Given the description of an element on the screen output the (x, y) to click on. 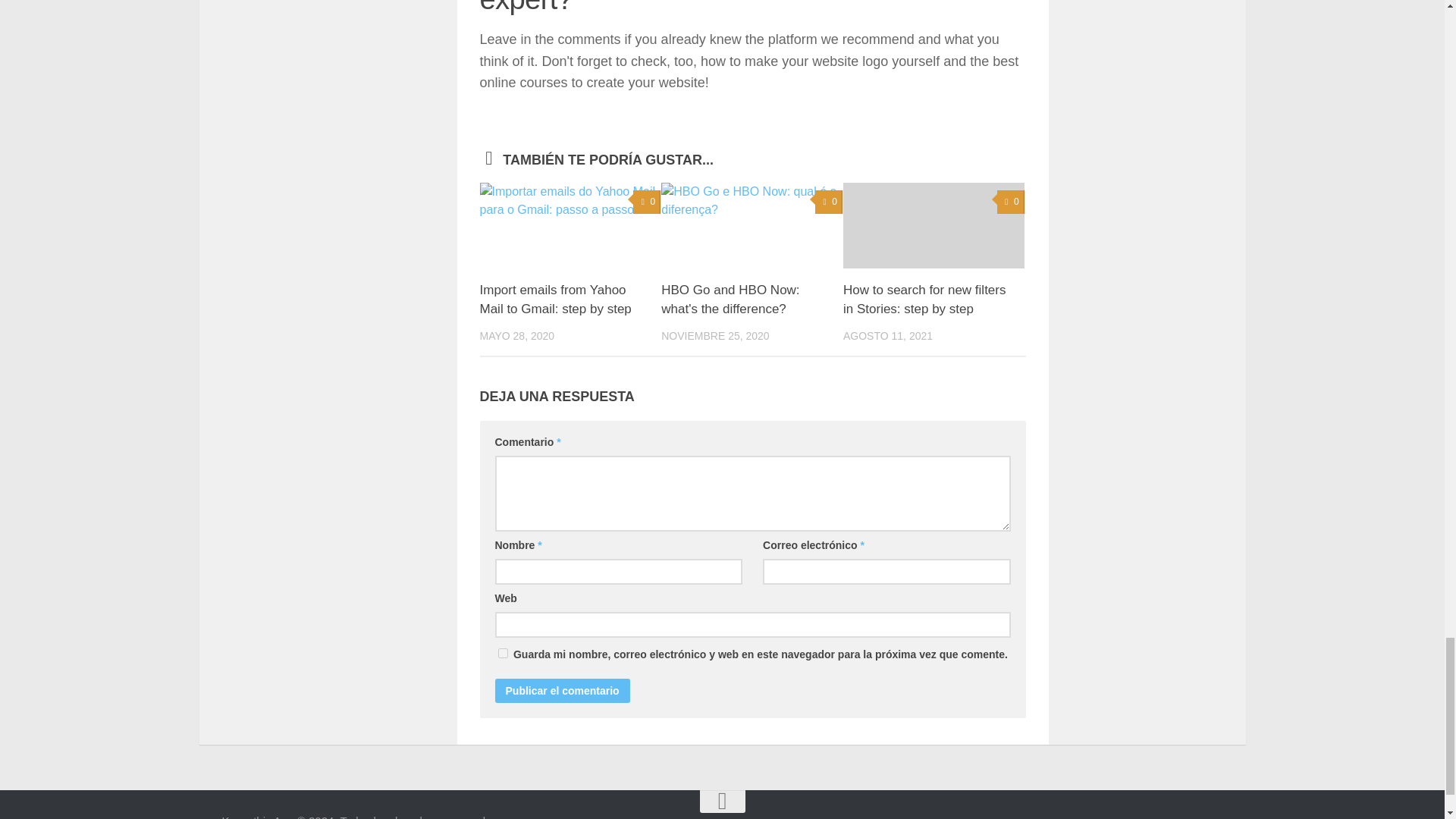
HBO Go and HBO Now: what's the difference? (730, 299)
How to search for new filters in Stories: step by step (924, 299)
Publicar el comentario (561, 690)
0 (647, 201)
Import emails from Yahoo Mail to Gmail: step by step (554, 299)
Publicar el comentario (561, 690)
yes (501, 653)
0 (1011, 201)
0 (829, 201)
